Given the description of an element on the screen output the (x, y) to click on. 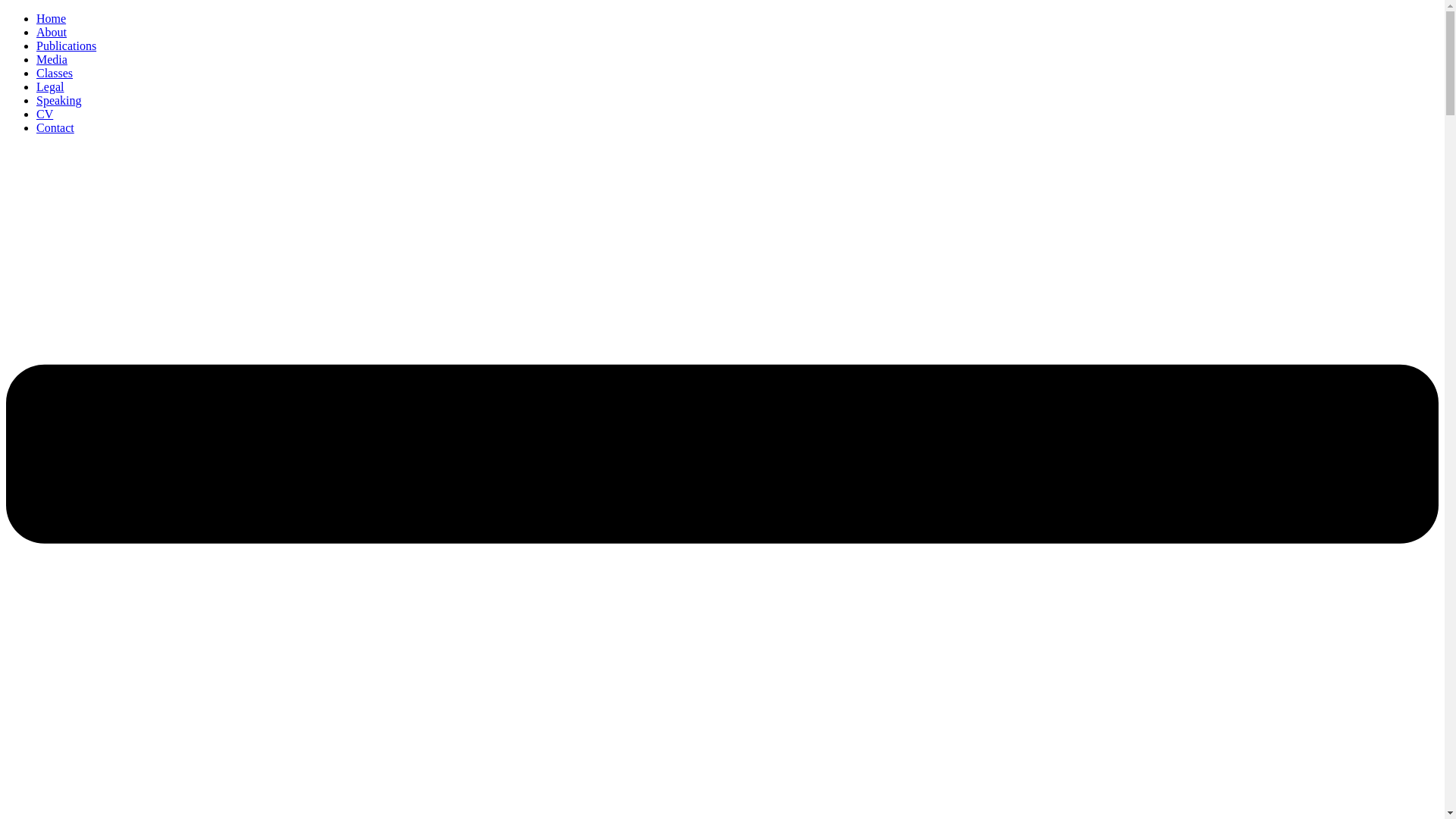
Speaking (58, 100)
CV (44, 113)
Publications (66, 45)
Contact (55, 127)
Media (51, 59)
Classes (54, 72)
Legal (50, 86)
About (51, 31)
Home (50, 18)
